Given the description of an element on the screen output the (x, y) to click on. 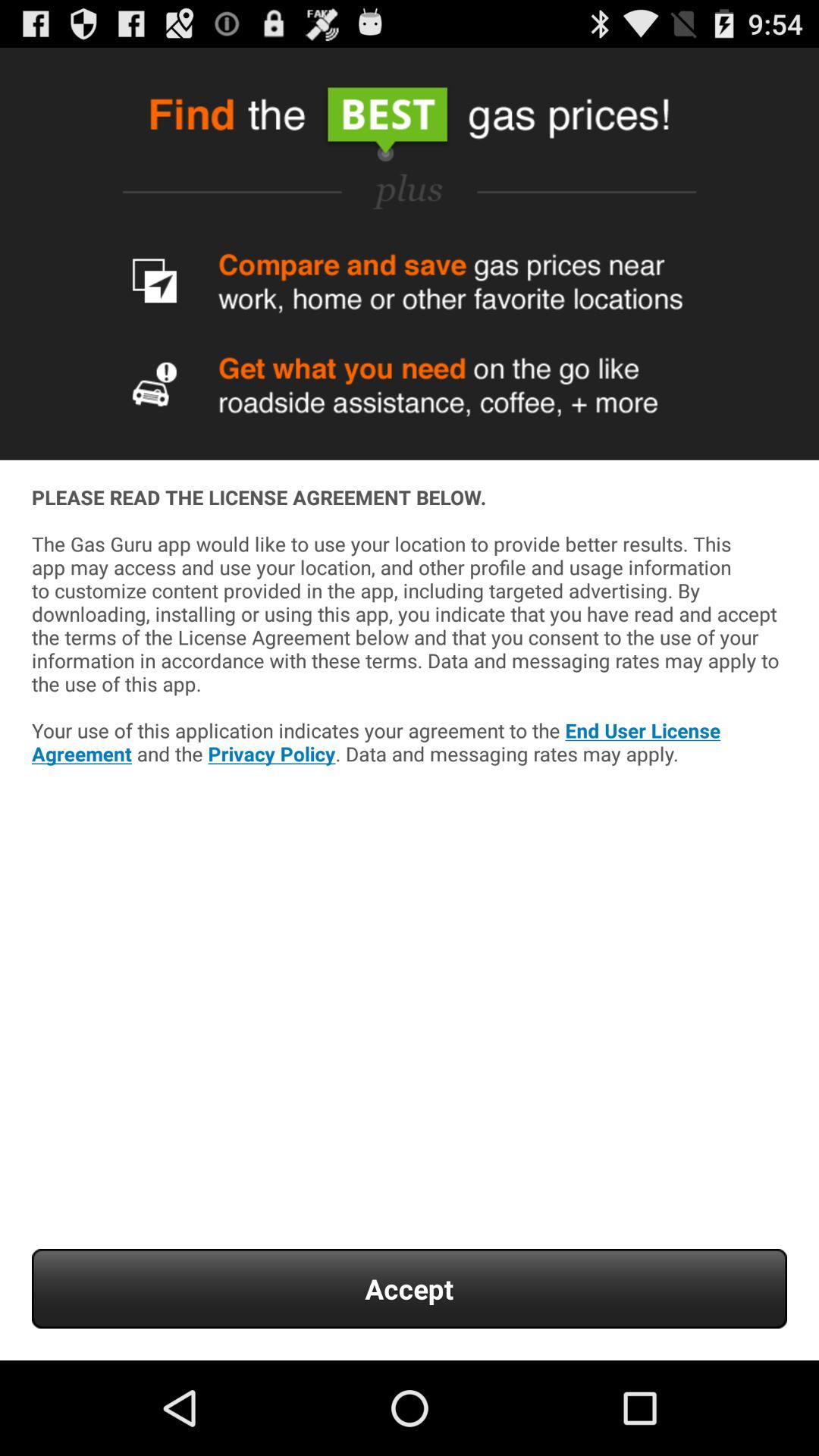
click the icon below please read the app (409, 1288)
